Given the description of an element on the screen output the (x, y) to click on. 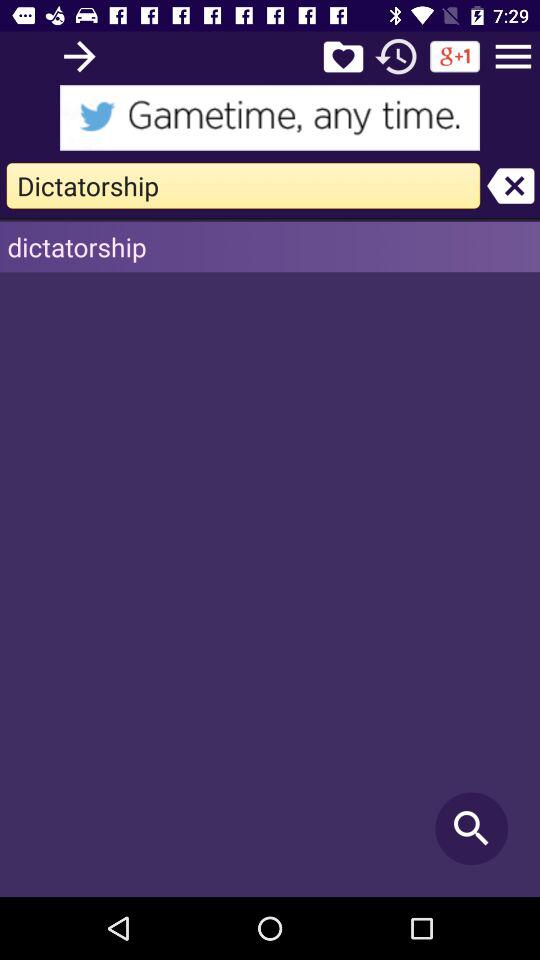
this cancles the current search (510, 185)
